Given the description of an element on the screen output the (x, y) to click on. 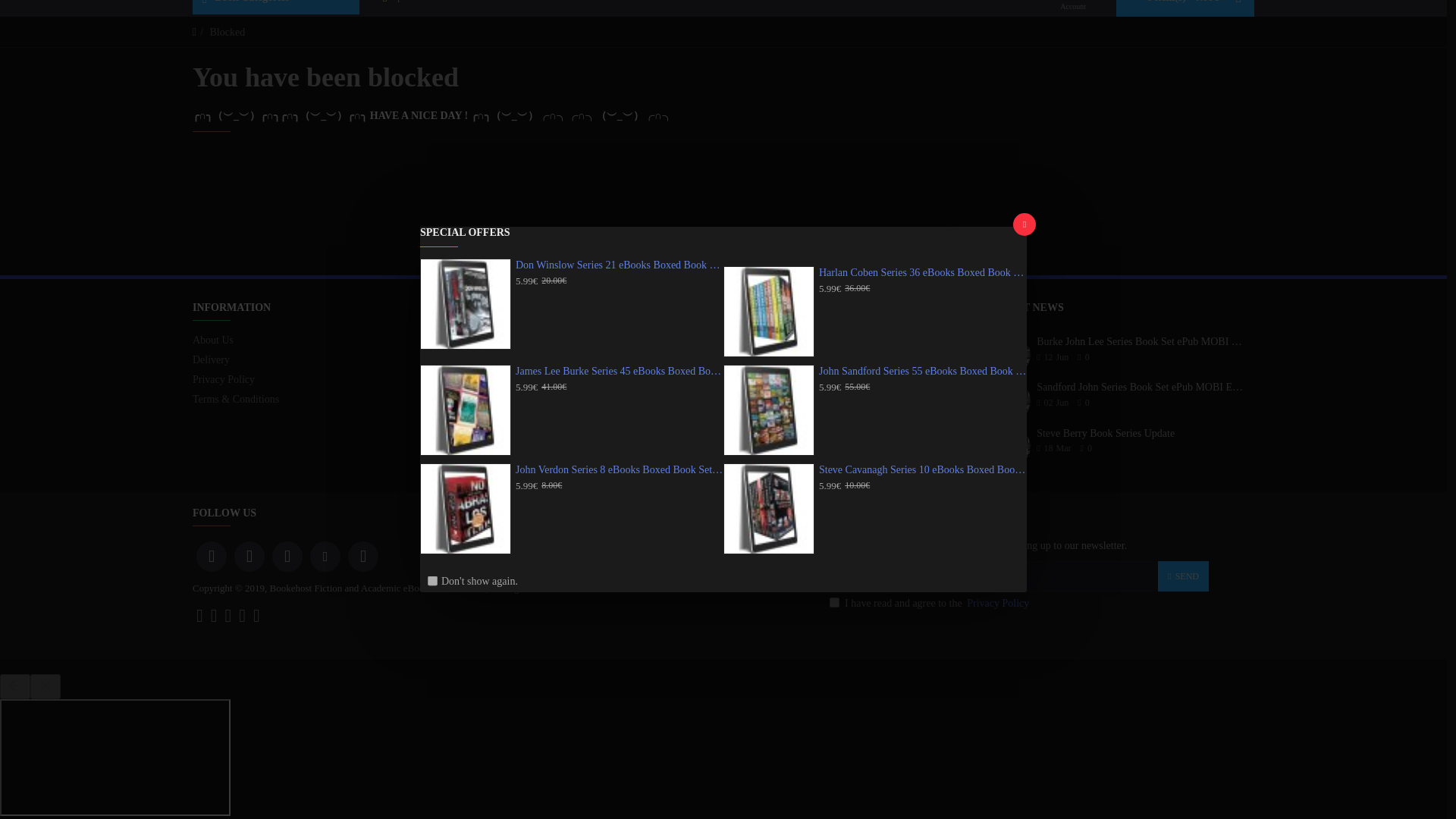
1 (834, 601)
on (433, 420)
